Given the description of an element on the screen output the (x, y) to click on. 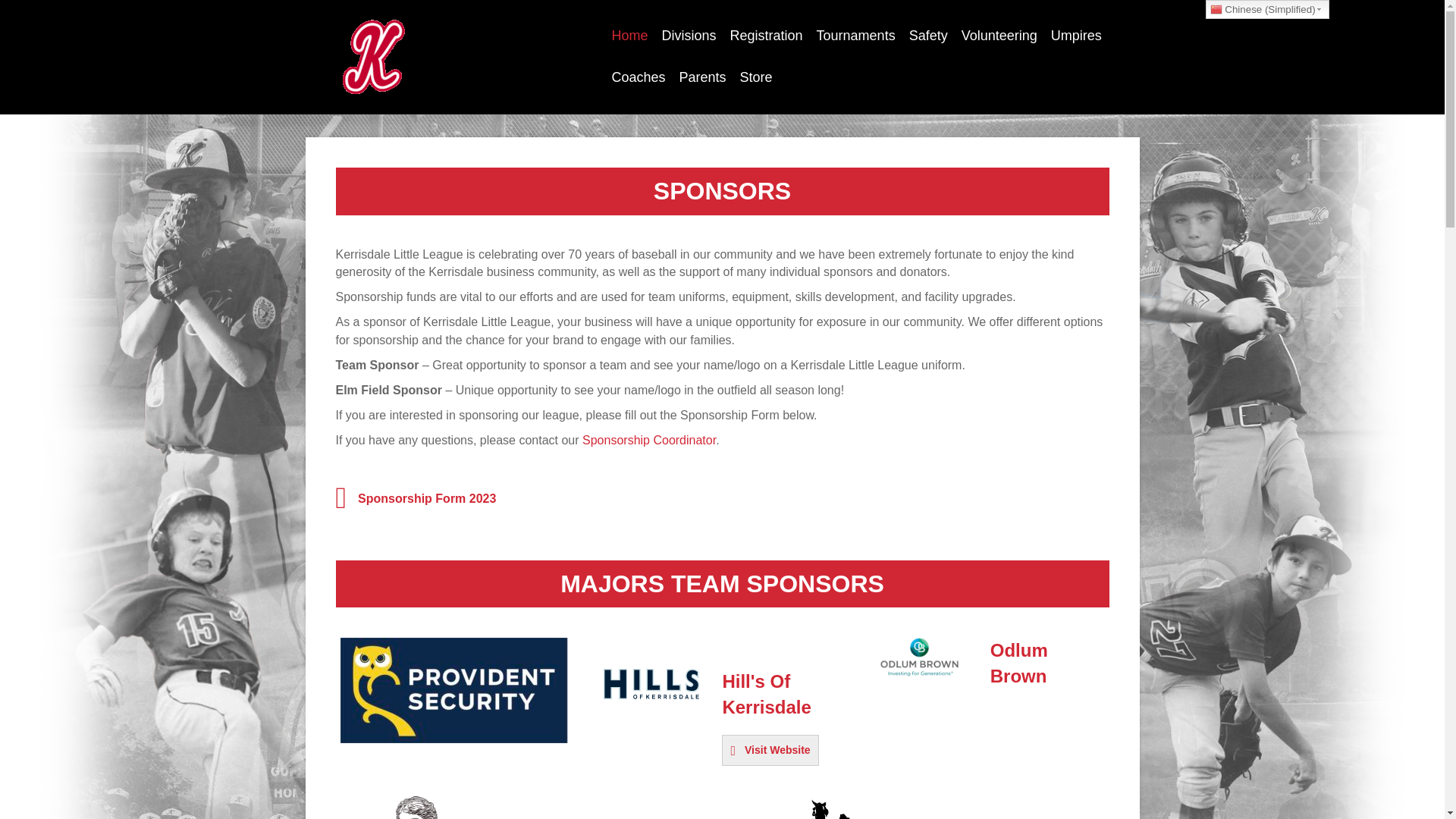
KL Company Logo High Res (817, 807)
download (919, 657)
minervas-logo copy (415, 807)
